Given the description of an element on the screen output the (x, y) to click on. 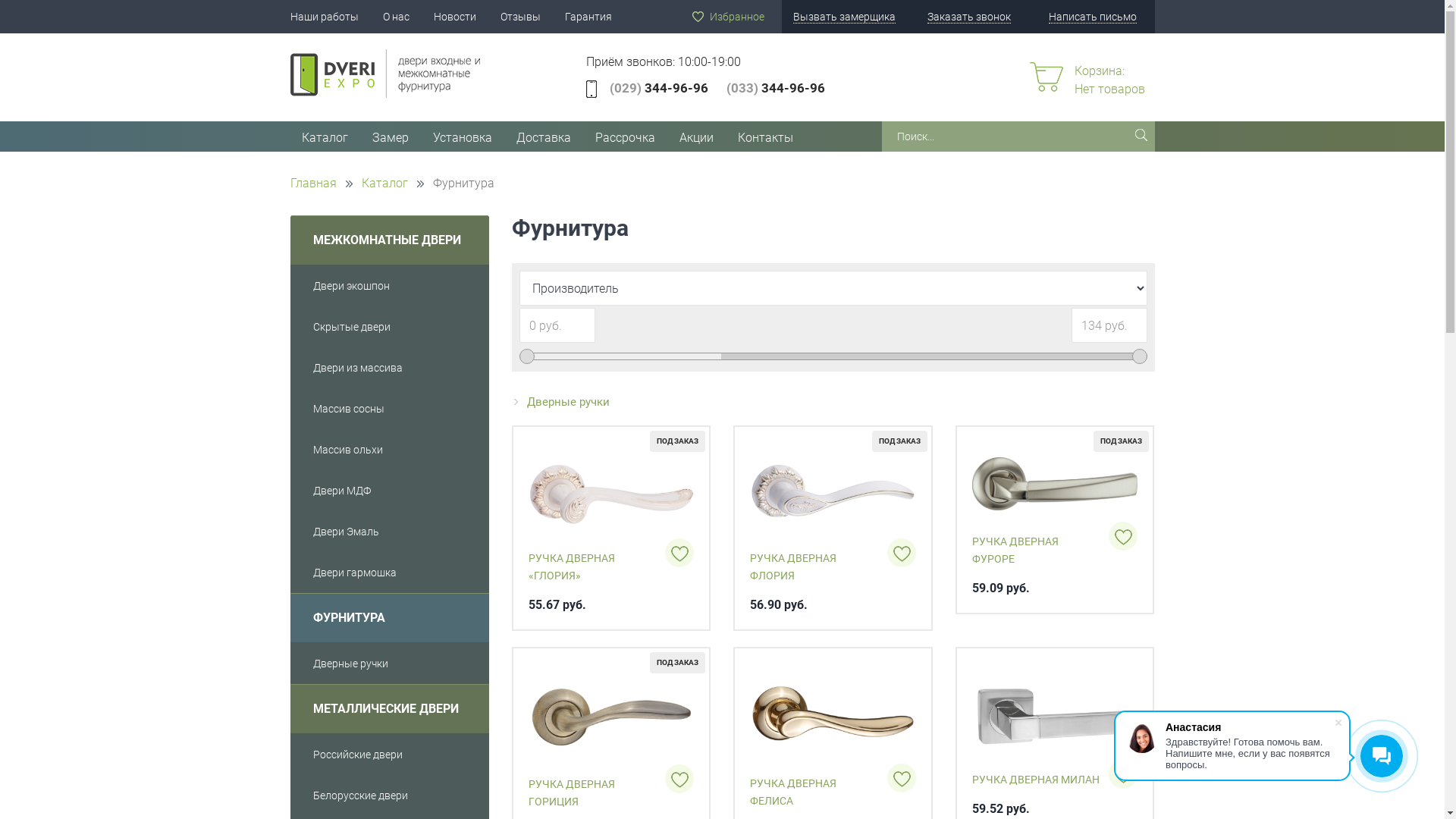
(033) 344-96-96 Element type: text (775, 87)
(029) 344-96-96 Element type: text (658, 87)
